Given the description of an element on the screen output the (x, y) to click on. 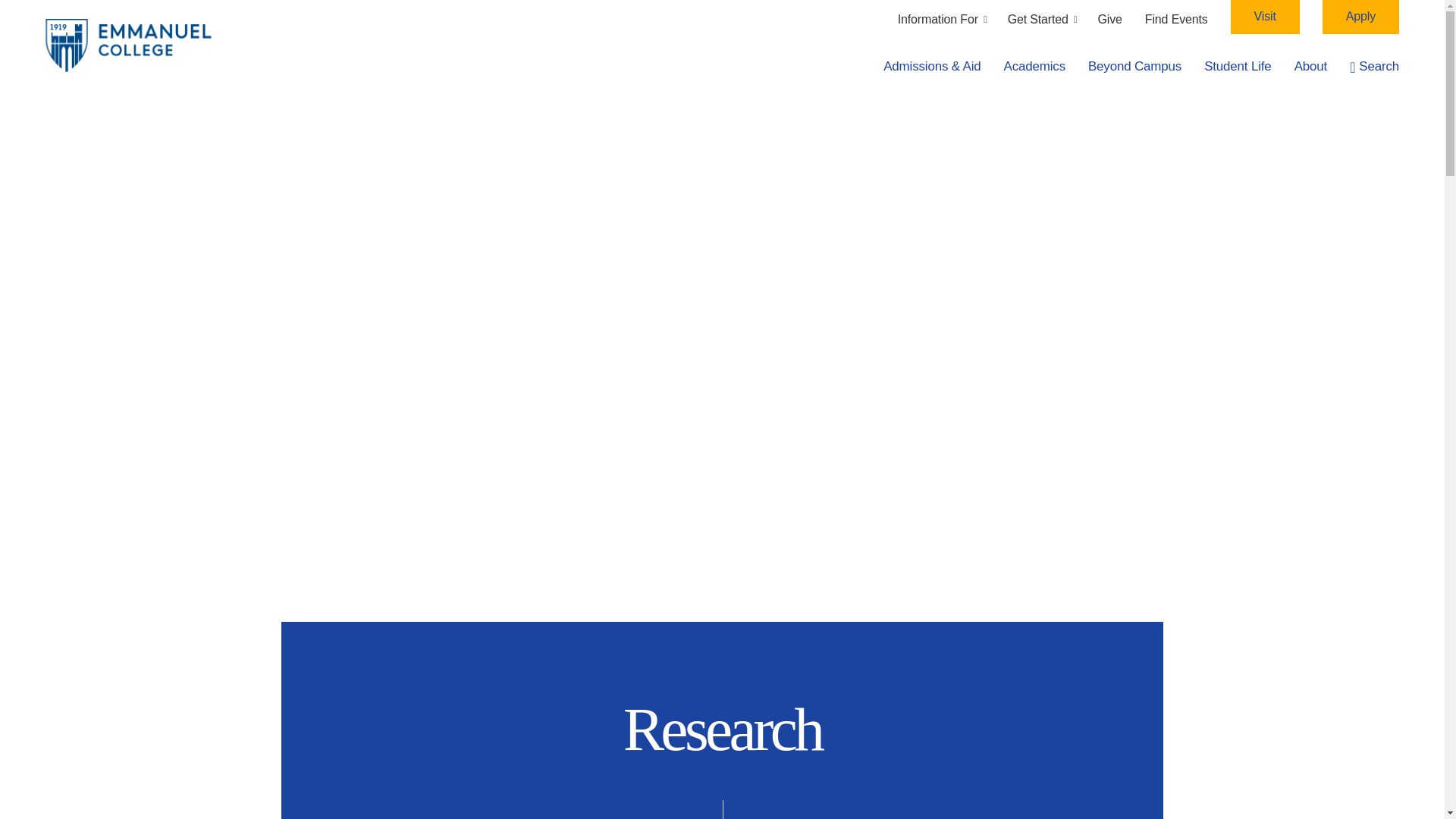
Information For (941, 19)
Visit (1265, 17)
Apply (1360, 17)
Academics (1034, 66)
Give (1109, 19)
Get Started (1041, 19)
Find Events (1176, 19)
